Given the description of an element on the screen output the (x, y) to click on. 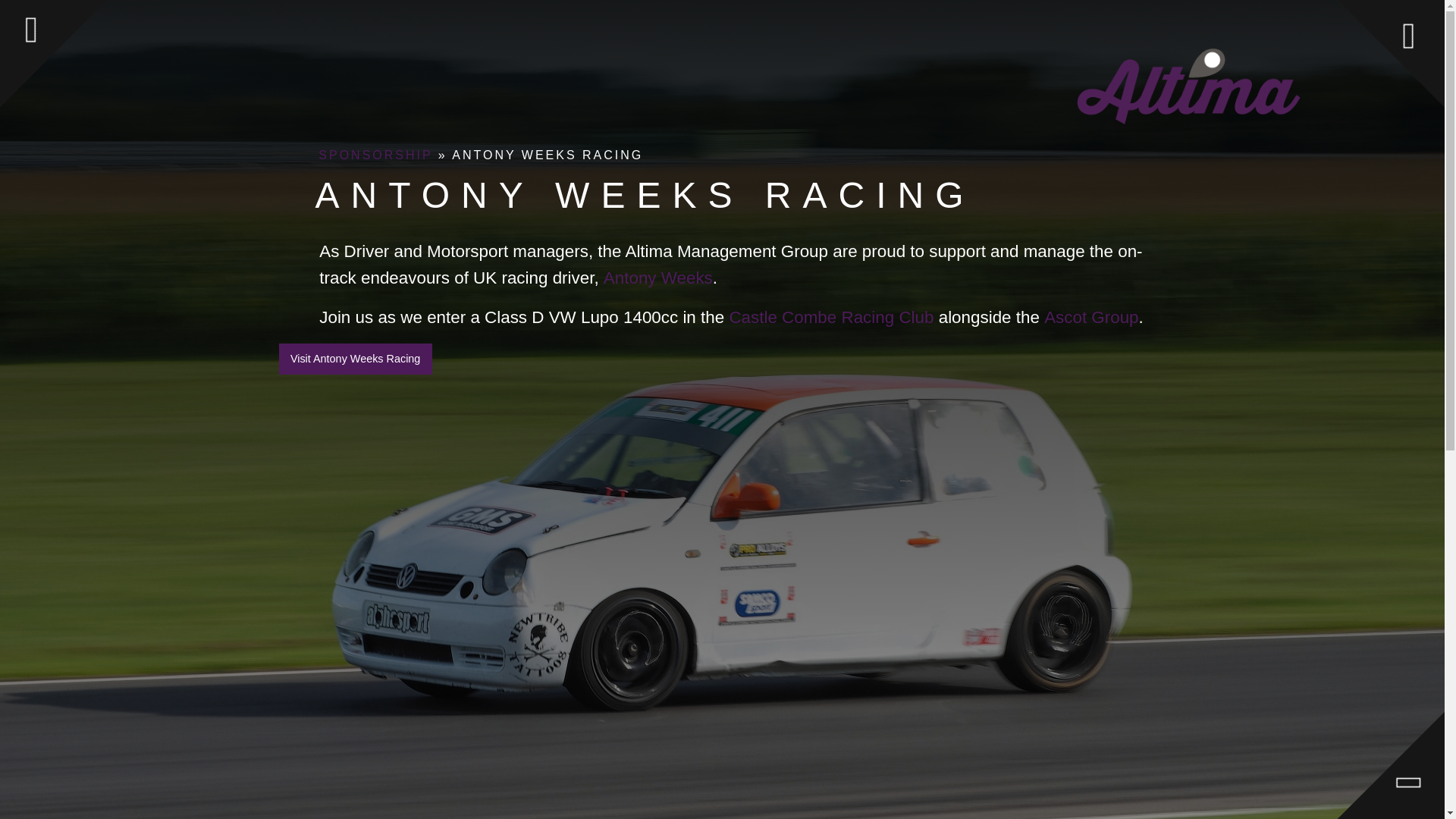
Castle Combe Racing Club (831, 316)
Visit the Antony Weeks Racing website provided by Altima (658, 277)
Visit Antony Weeks Racing (355, 358)
SPONSORSHIP (375, 154)
Find out more about the Ascot Group (1090, 316)
Visit the Castle Combe Racing Club website (831, 316)
Antony Weeks (658, 277)
Ascot Group (1090, 316)
